Given the description of an element on the screen output the (x, y) to click on. 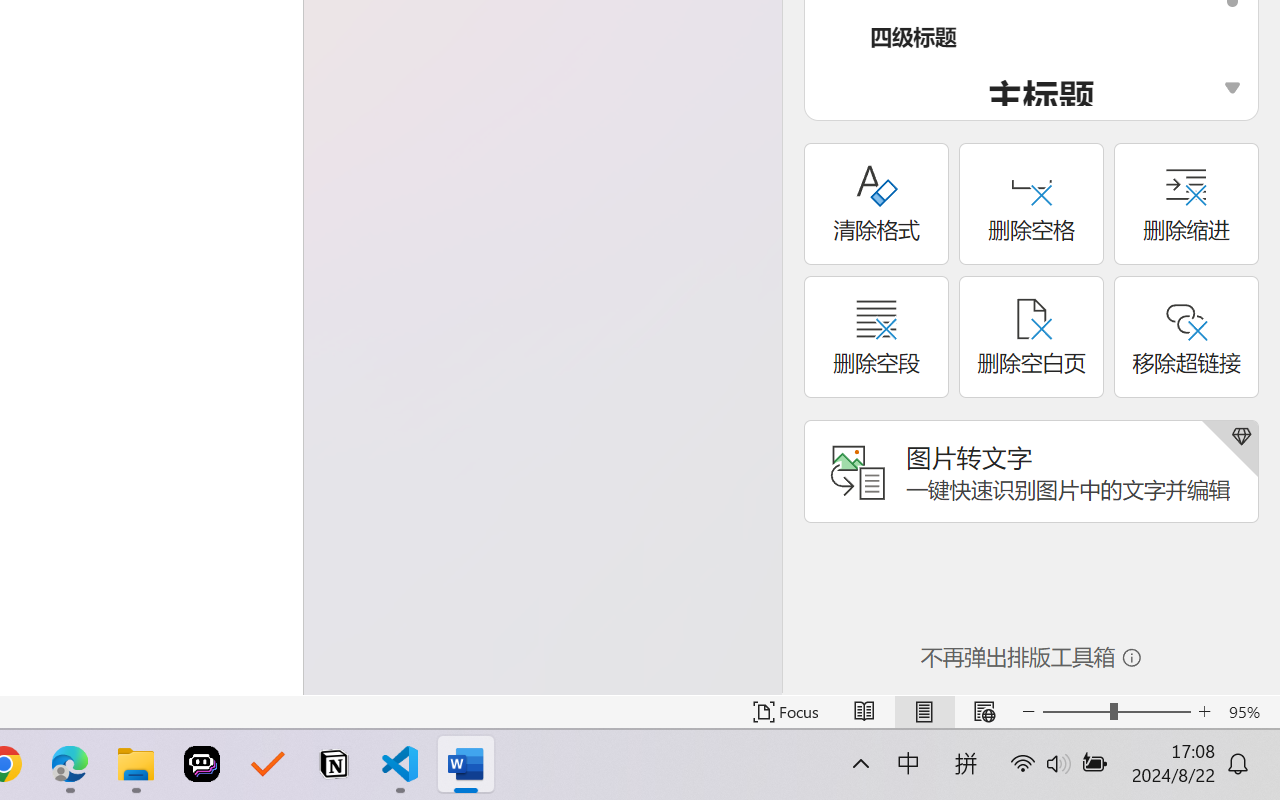
Zoom 95% (1249, 712)
